Given the description of an element on the screen output the (x, y) to click on. 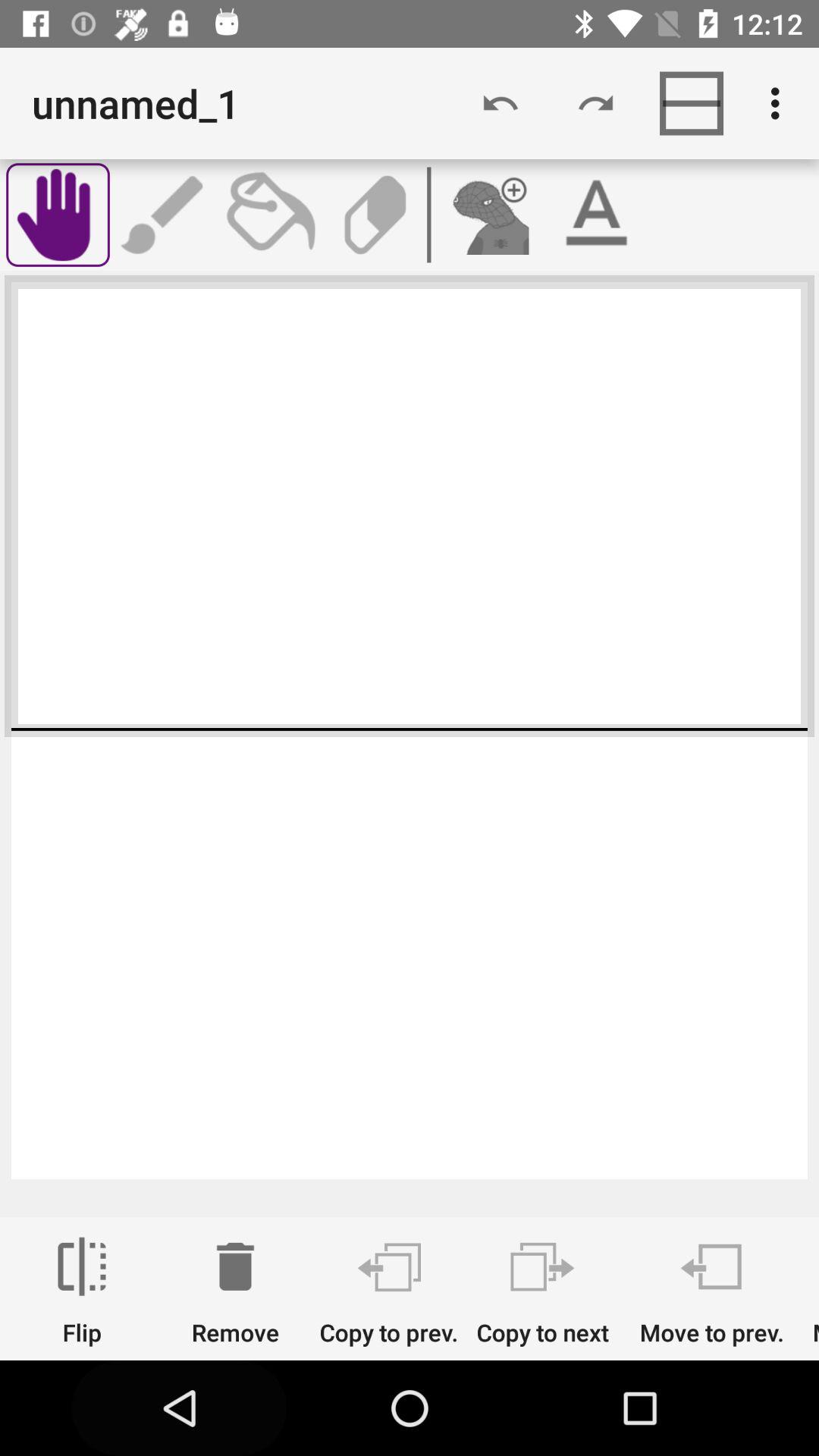
add picture (488, 214)
